Given the description of an element on the screen output the (x, y) to click on. 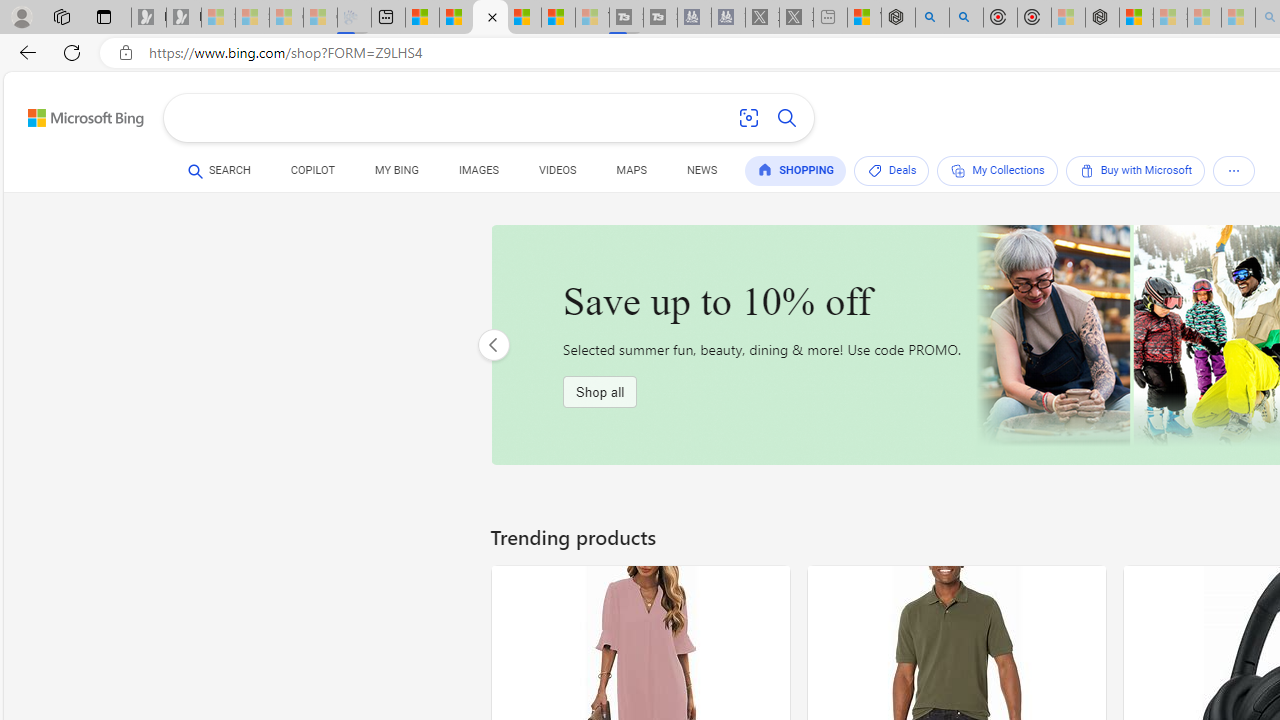
Deals (892, 170)
Tab actions menu (104, 16)
VIDEOS (557, 170)
SHOPPING (795, 170)
SEARCH (219, 170)
Back to Bing search (73, 113)
Refresh (72, 52)
MY BING (396, 170)
Class: b_pri_nav_svg (1234, 171)
My Collections (997, 170)
